Given the description of an element on the screen output the (x, y) to click on. 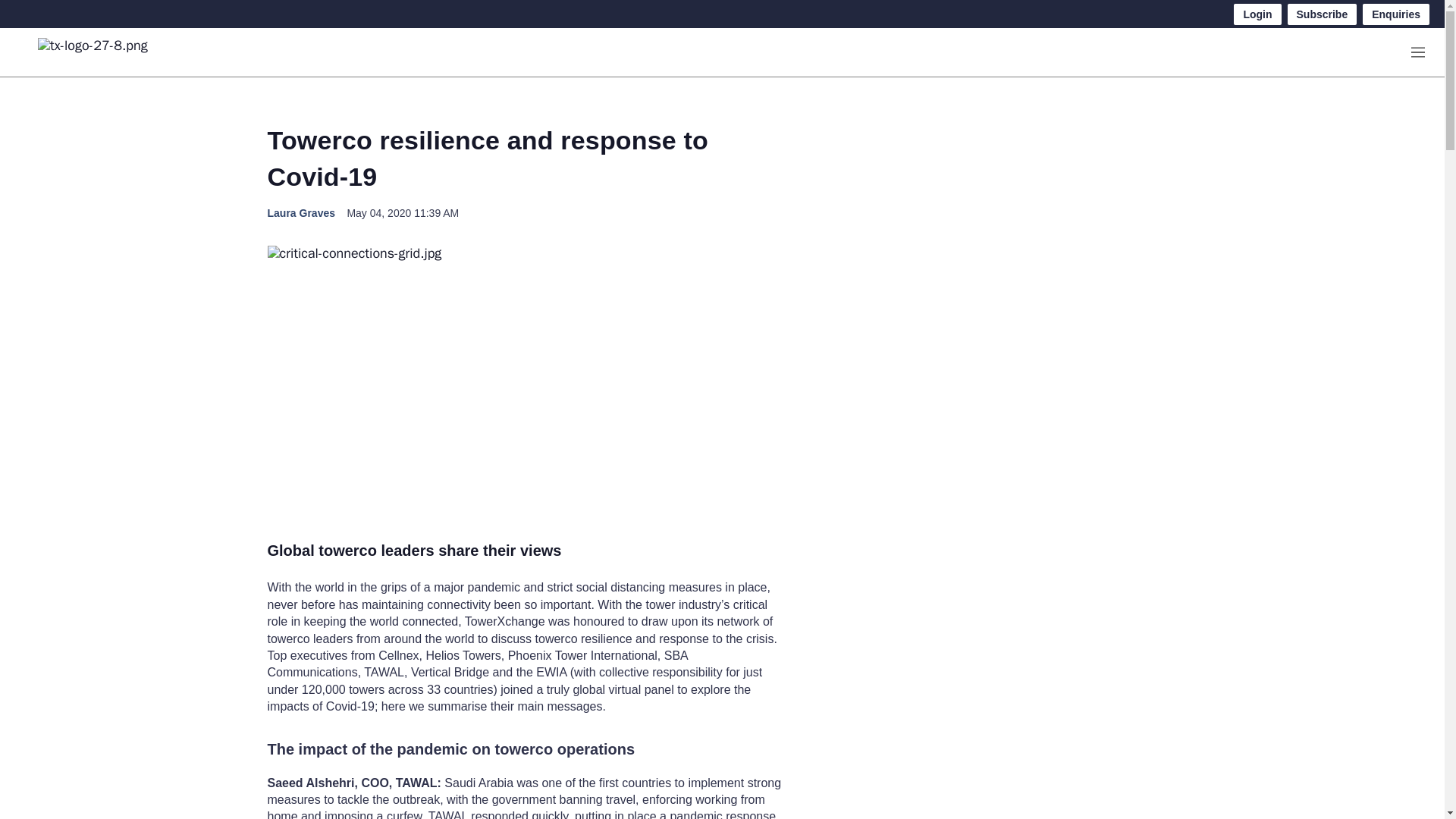
Enquiries (1395, 13)
Login (1257, 13)
Subscribe (1321, 13)
